Given the description of an element on the screen output the (x, y) to click on. 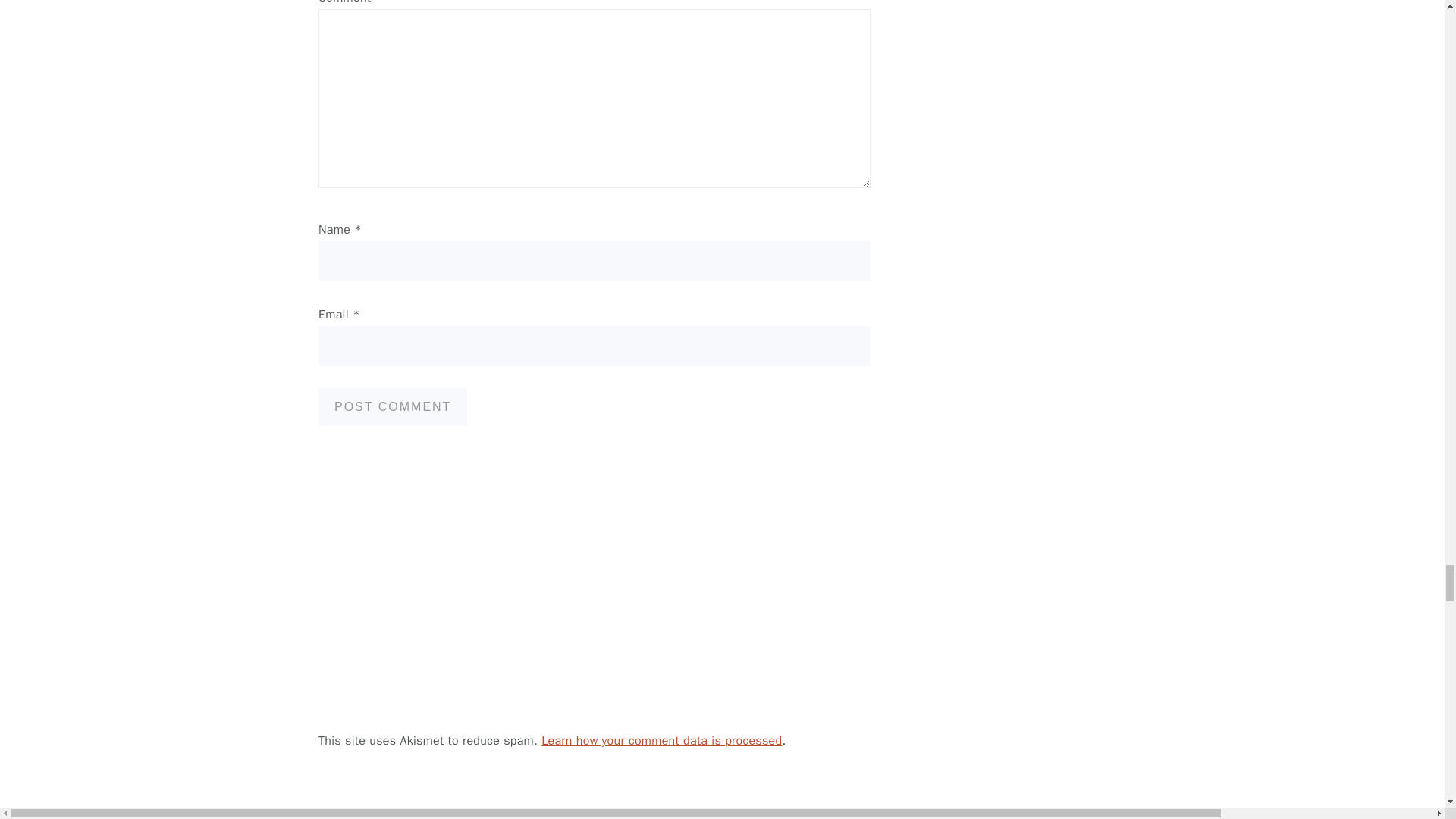
Post Comment (392, 406)
